Given the description of an element on the screen output the (x, y) to click on. 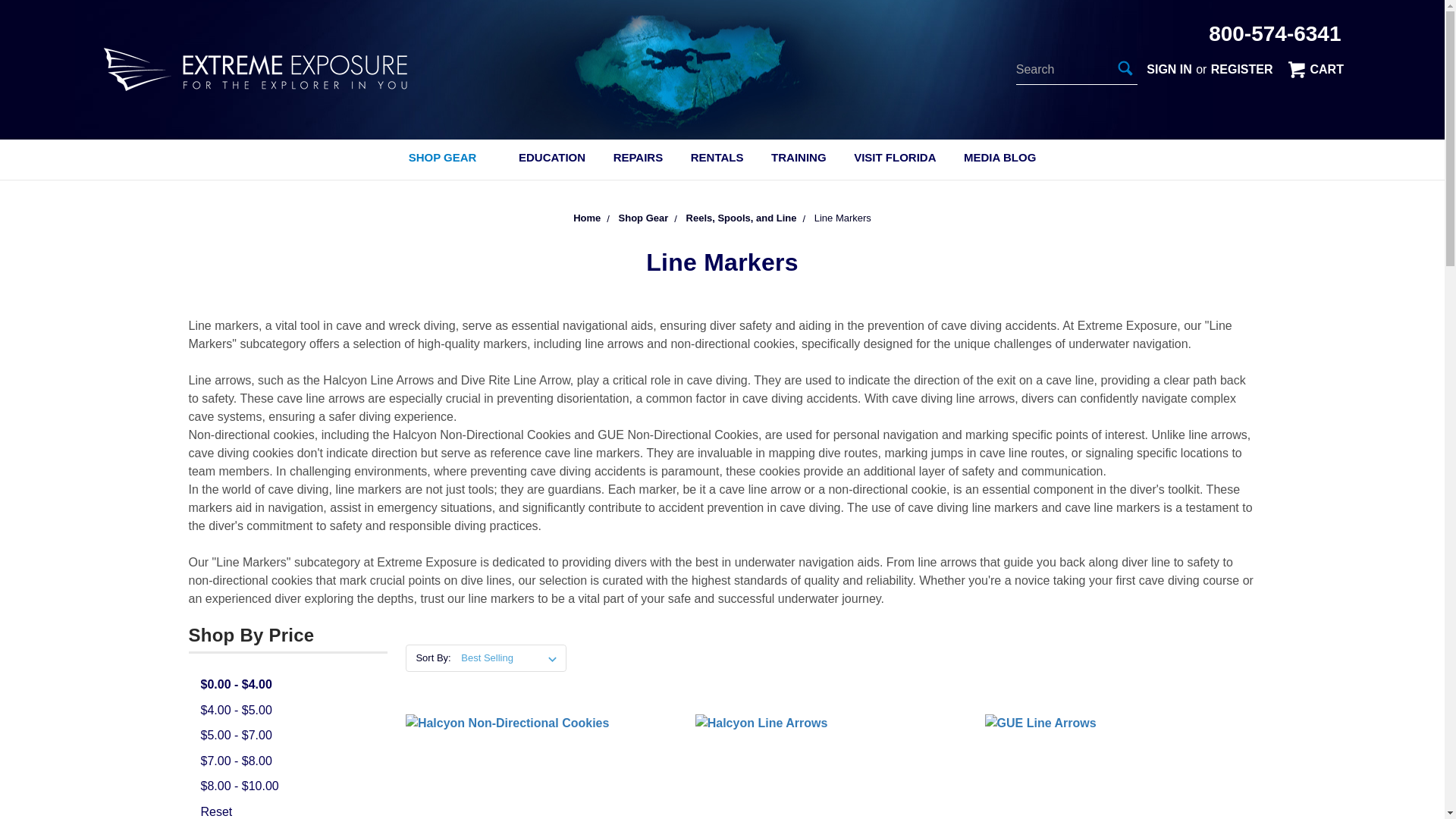
Extreme Exposure (261, 69)
Halcyon Line Arrows (830, 766)
CART (1314, 69)
SIGN IN (1169, 69)
submit (1125, 66)
Halcyon Non-Directional Cookies (541, 766)
800-574-6341 (1274, 33)
REGISTER (1241, 69)
GUE Line Arrows (1120, 766)
SHOP GEAR (448, 159)
